Given the description of an element on the screen output the (x, y) to click on. 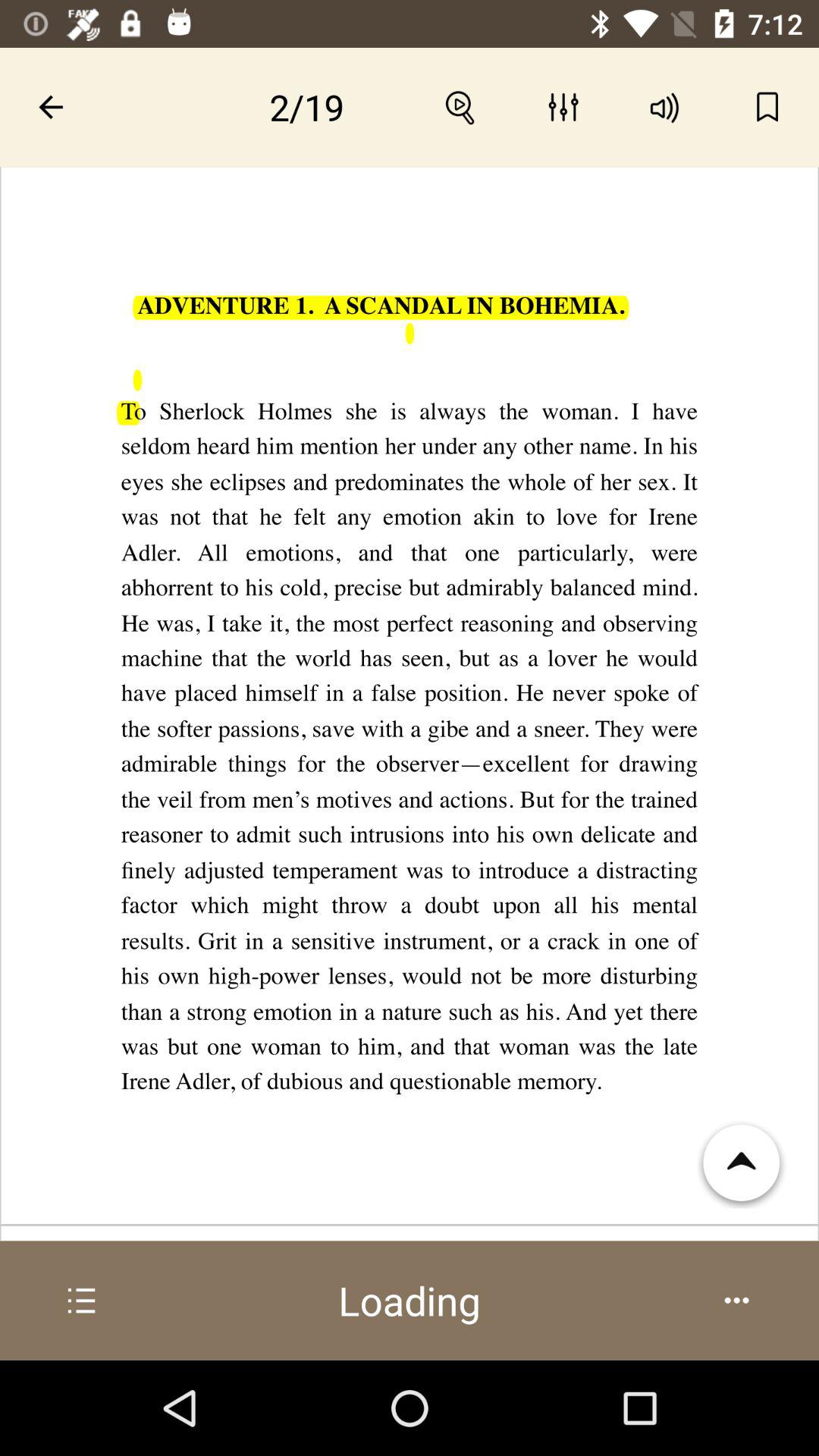
increase the volume (665, 106)
